Given the description of an element on the screen output the (x, y) to click on. 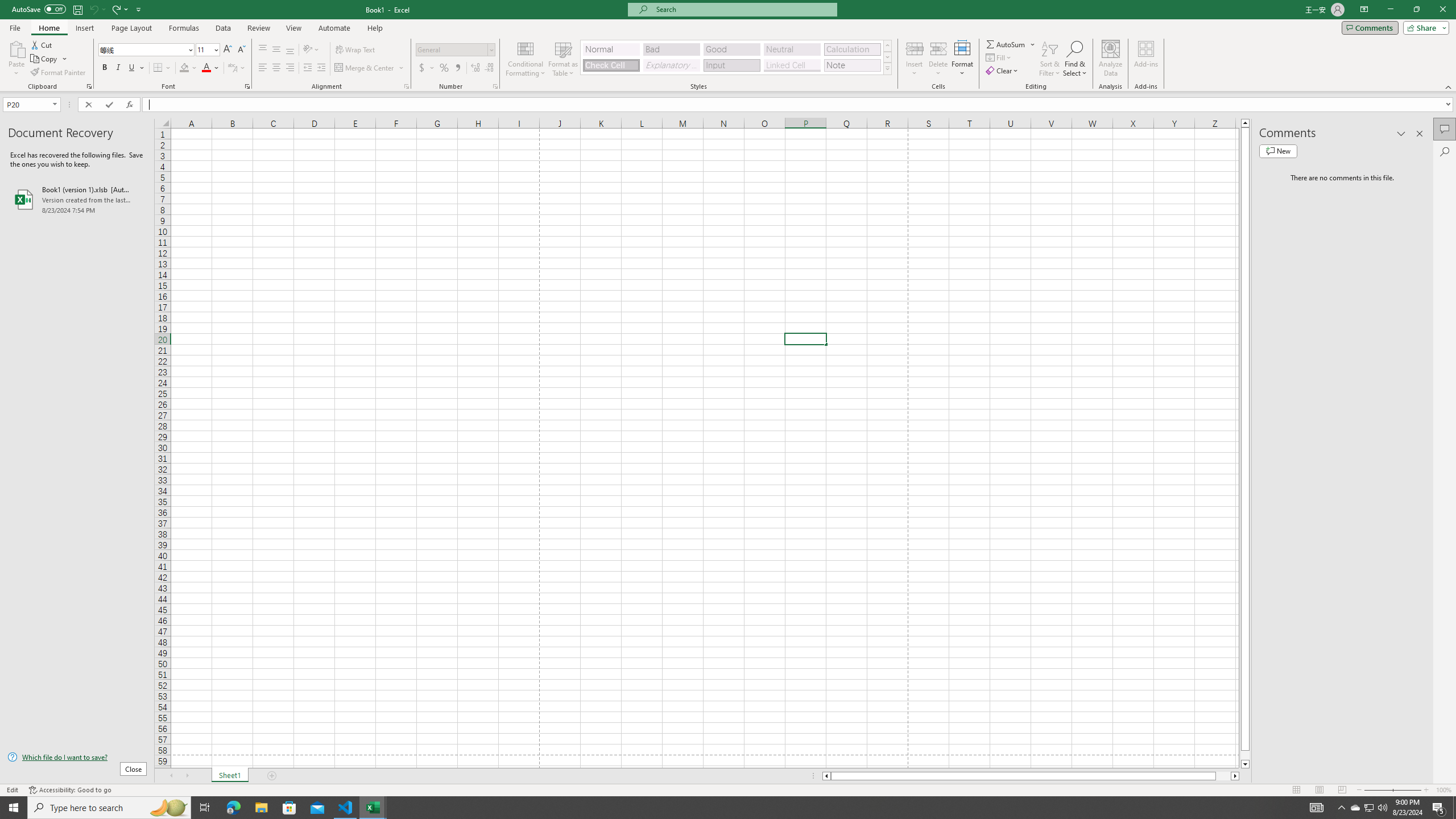
Sort & Filter (1049, 58)
Font Color (210, 67)
Orientation (311, 49)
Fill Color RGB(255, 255, 0) (183, 67)
Accounting Number Format (422, 67)
Conditional Formatting (525, 58)
Insert Cells (914, 48)
